Given the description of an element on the screen output the (x, y) to click on. 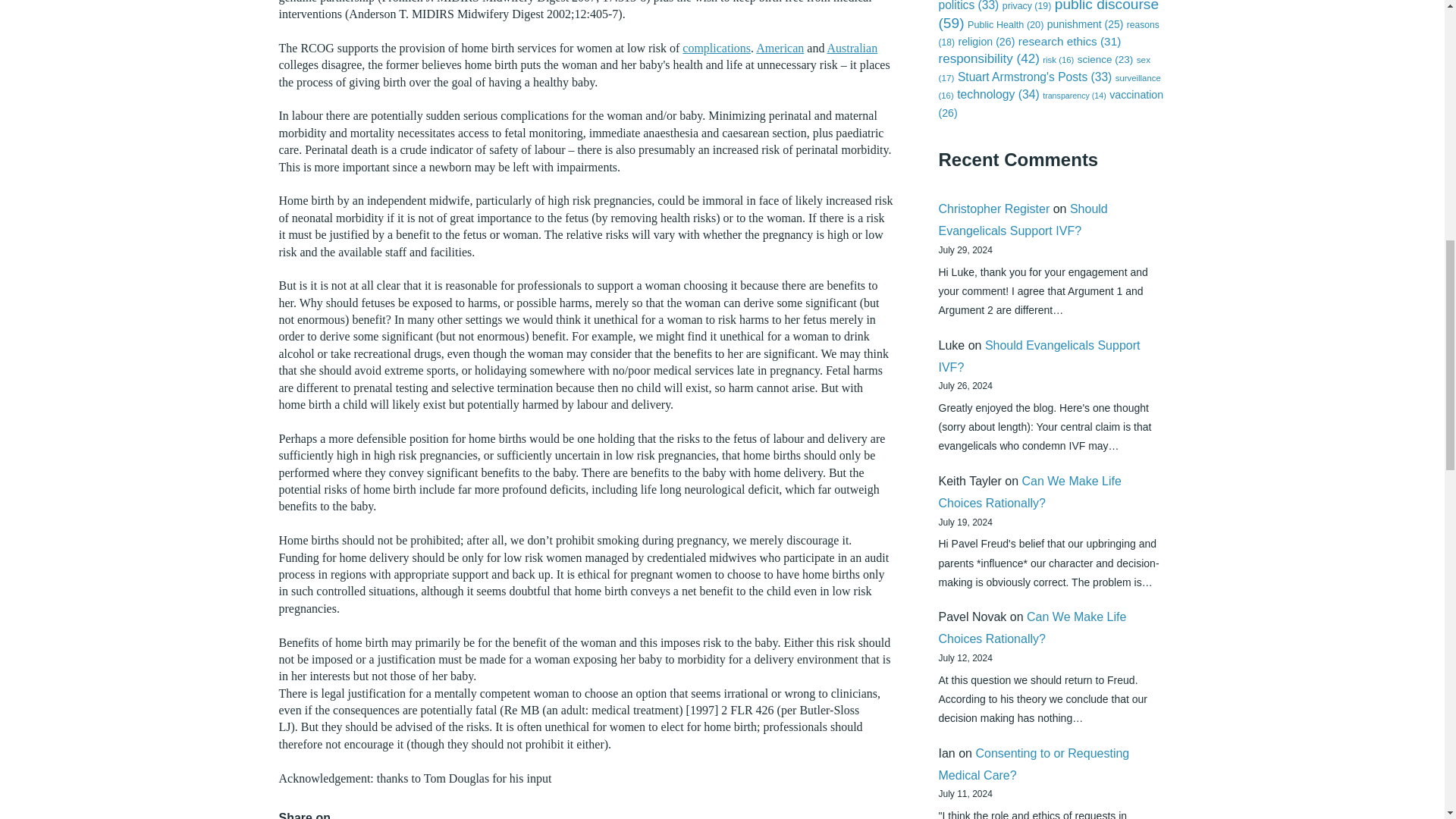
American (779, 47)
Australian (852, 47)
complications (716, 47)
